Given the description of an element on the screen output the (x, y) to click on. 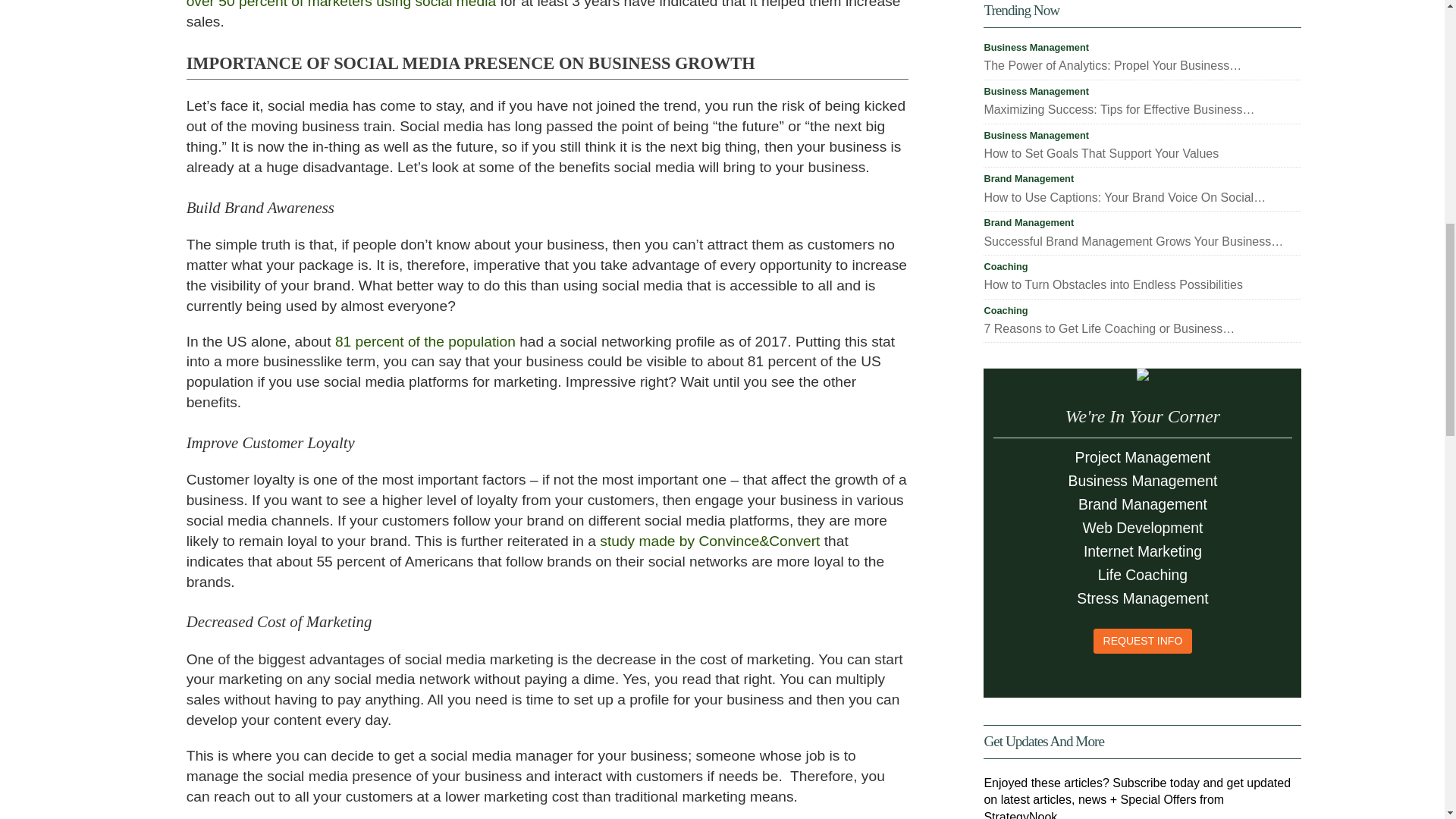
over 50 percent of marketers using social media (341, 468)
Statista (433, 295)
Business Management (1036, 48)
81 percent of the population (424, 808)
Social Media Examiner (432, 371)
number of social media users has increased (631, 295)
According to Hubspot (810, 427)
